Given the description of an element on the screen output the (x, y) to click on. 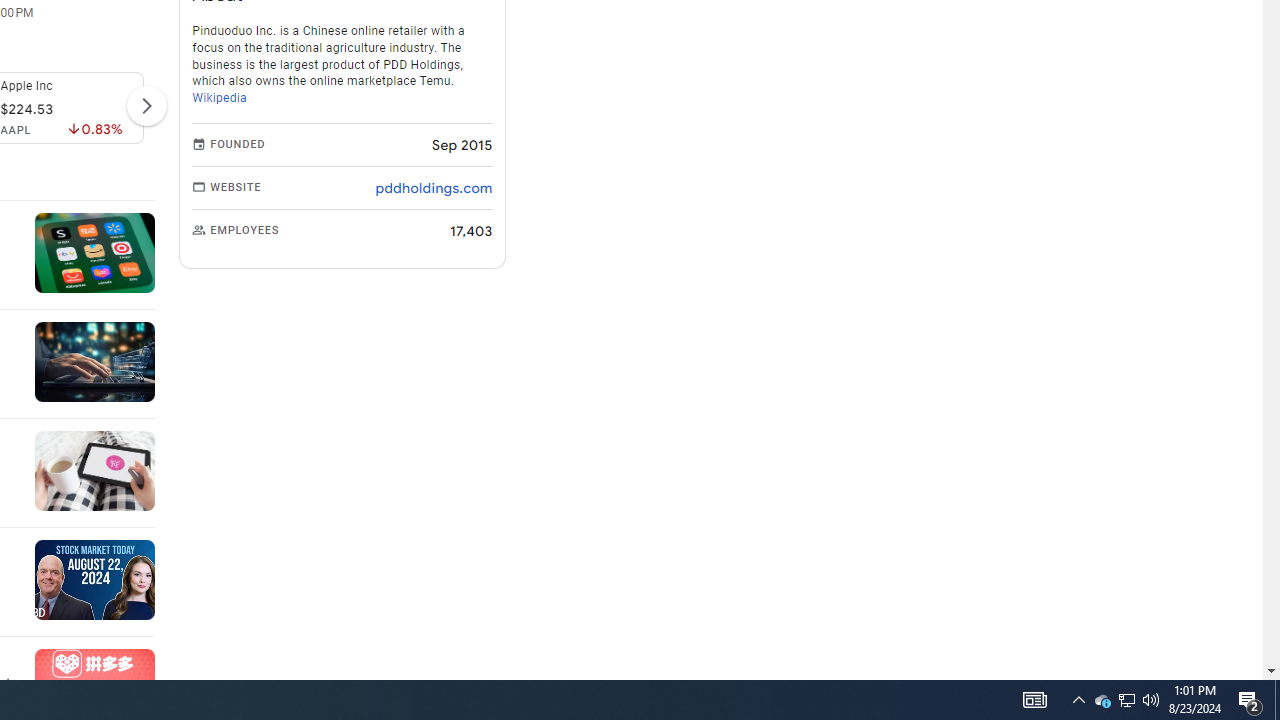
pddholdings.com (433, 187)
Wikipedia (219, 97)
